Given the description of an element on the screen output the (x, y) to click on. 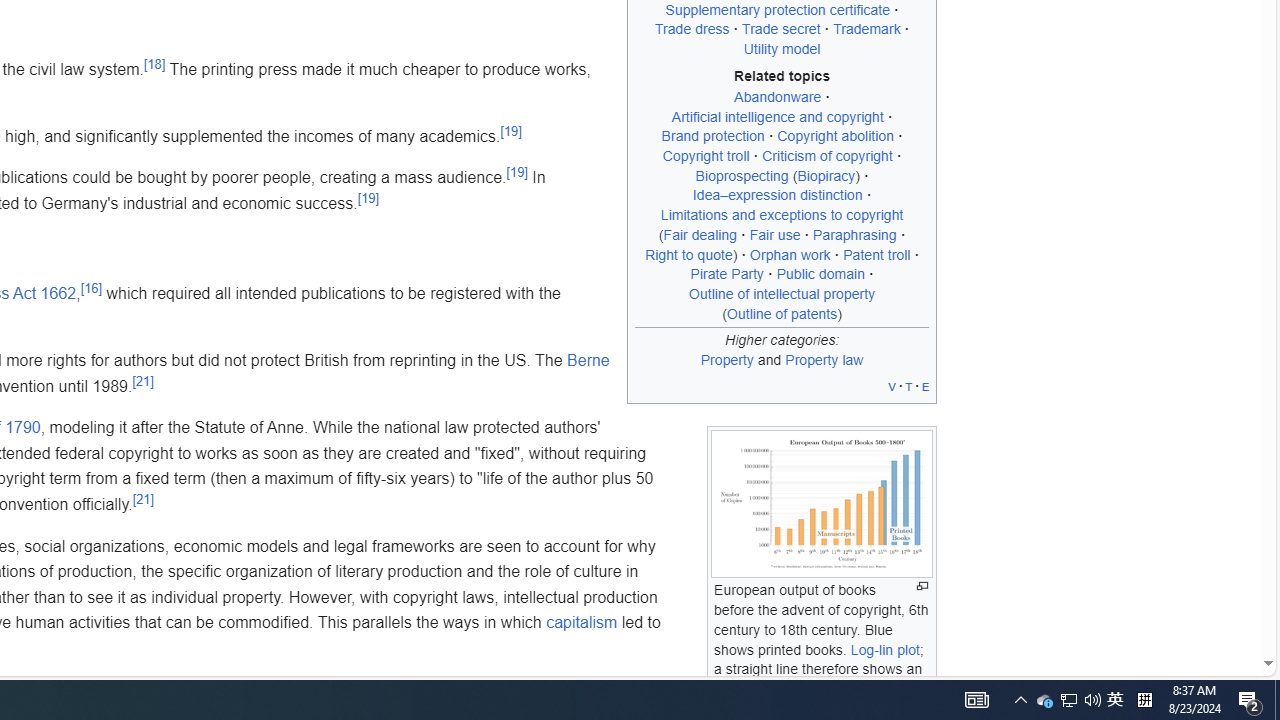
(Outline of patents) (782, 313)
[18] (154, 64)
[19] (368, 197)
Property (726, 359)
Outline of intellectual property (781, 293)
Copyright troll (705, 156)
Property law (824, 359)
e (925, 385)
